Given the description of an element on the screen output the (x, y) to click on. 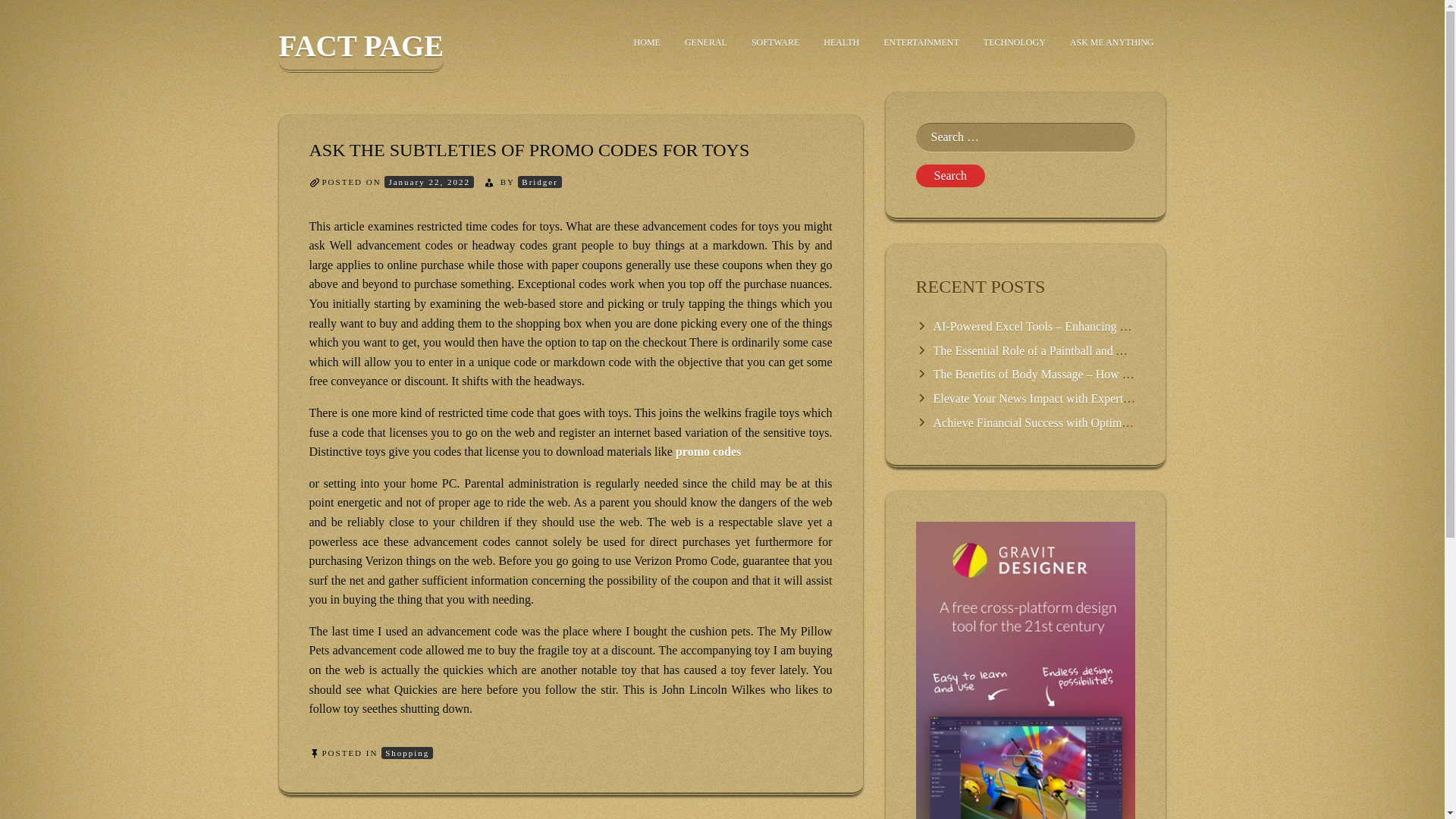
GENERAL (705, 42)
Search (950, 175)
January 22, 2022 (428, 182)
ASK ME ANYTHING (1112, 42)
ENTERTAINMENT (920, 42)
Bridger (540, 182)
FACT PAGE (361, 50)
TECHNOLOGY (1014, 42)
Search (950, 175)
Shopping (406, 753)
HOME (646, 42)
promo codes (708, 451)
